Given the description of an element on the screen output the (x, y) to click on. 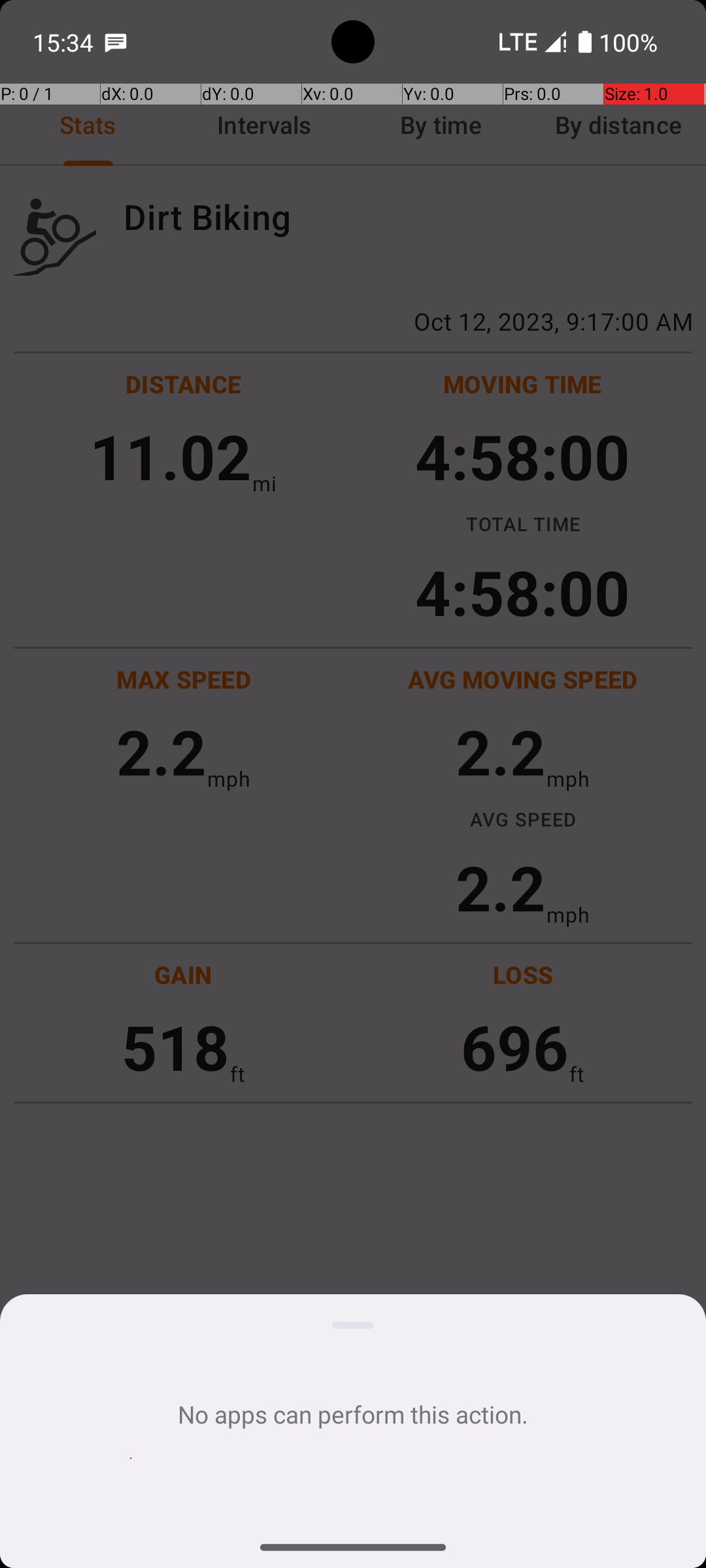
No apps can perform this action. Element type: android.widget.TextView (352, 1413)
